Given the description of an element on the screen output the (x, y) to click on. 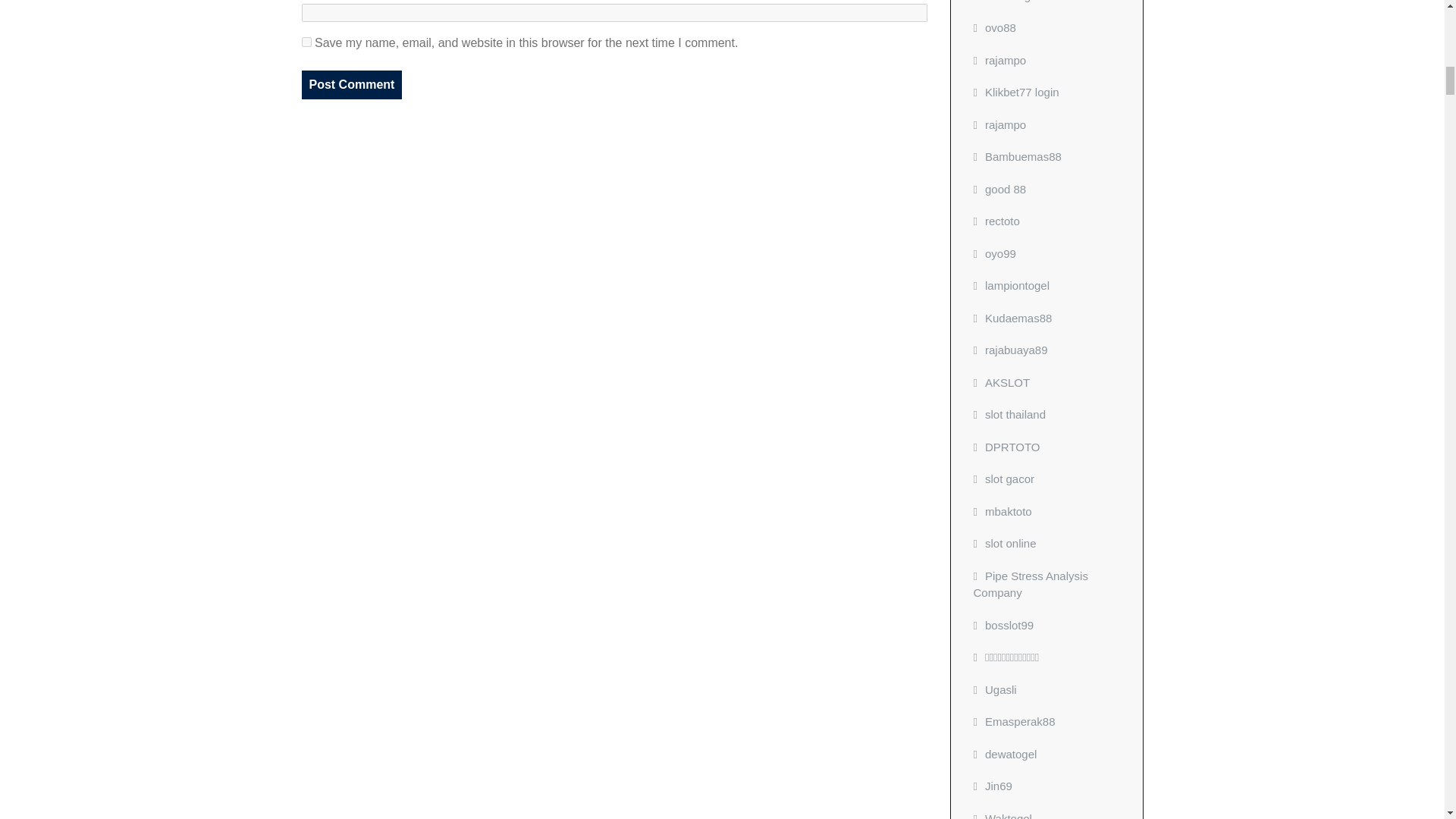
Post Comment (352, 84)
yes (306, 41)
Post Comment (352, 84)
dewavegas (1008, 1)
